Given the description of an element on the screen output the (x, y) to click on. 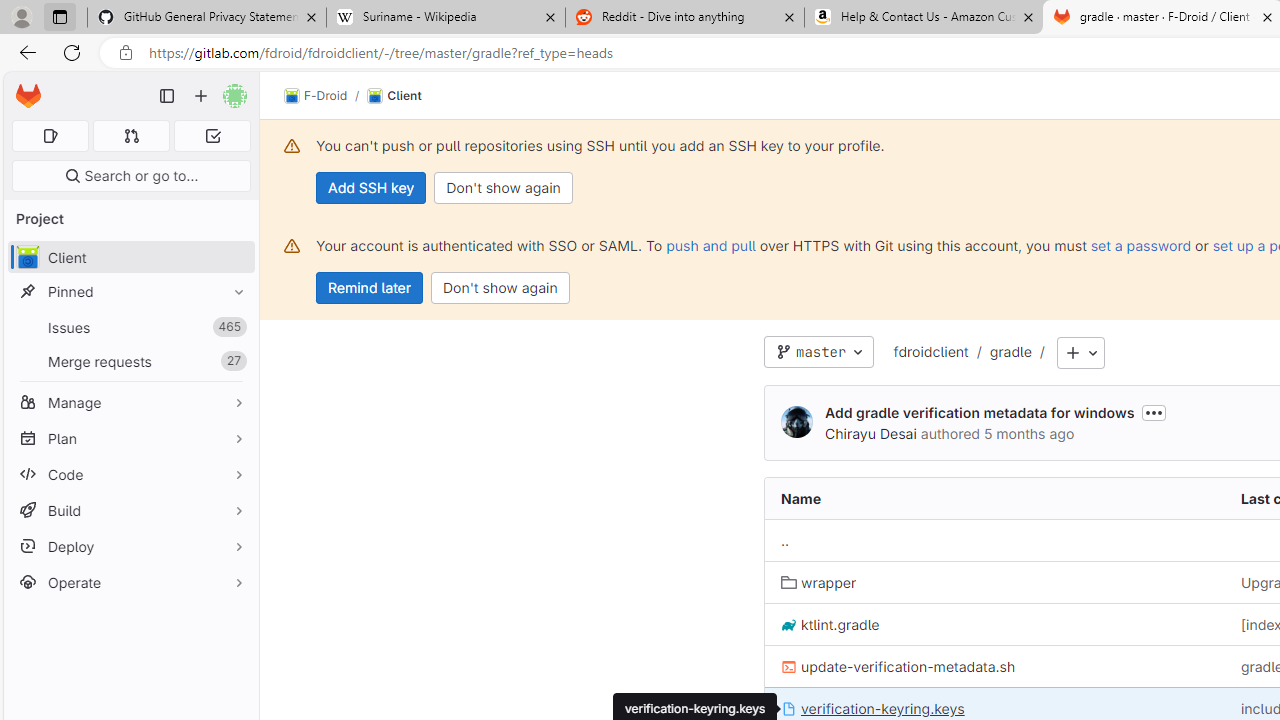
verification-keyring.keys (872, 708)
Suriname - Wikipedia (445, 17)
update-verification-metadata.sh (994, 666)
ktlint.gradle (994, 624)
Code (130, 474)
gradle (1010, 351)
GitHub General Privacy Statement - GitHub Docs (207, 17)
Build (130, 510)
Operate (130, 582)
Assigned issues 0 (50, 136)
wrapper (994, 582)
Chirayu Desai's avatar (796, 423)
